Given the description of an element on the screen output the (x, y) to click on. 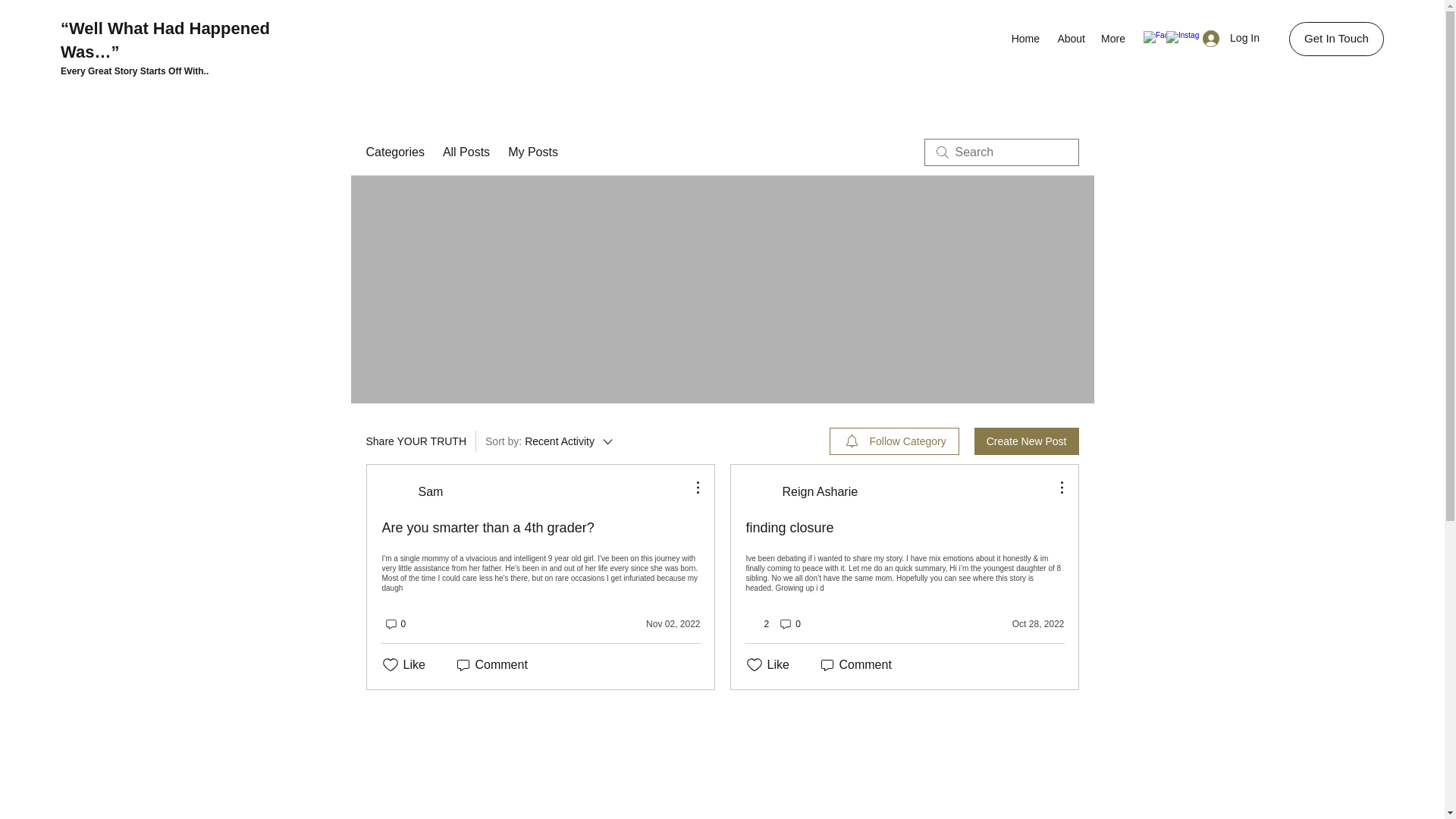
Create New Post (1026, 441)
Get In Touch (1336, 39)
My Posts (532, 152)
Log In (1230, 38)
Categories (394, 152)
About (1069, 38)
Home (1024, 38)
Comment (489, 665)
